Given the description of an element on the screen output the (x, y) to click on. 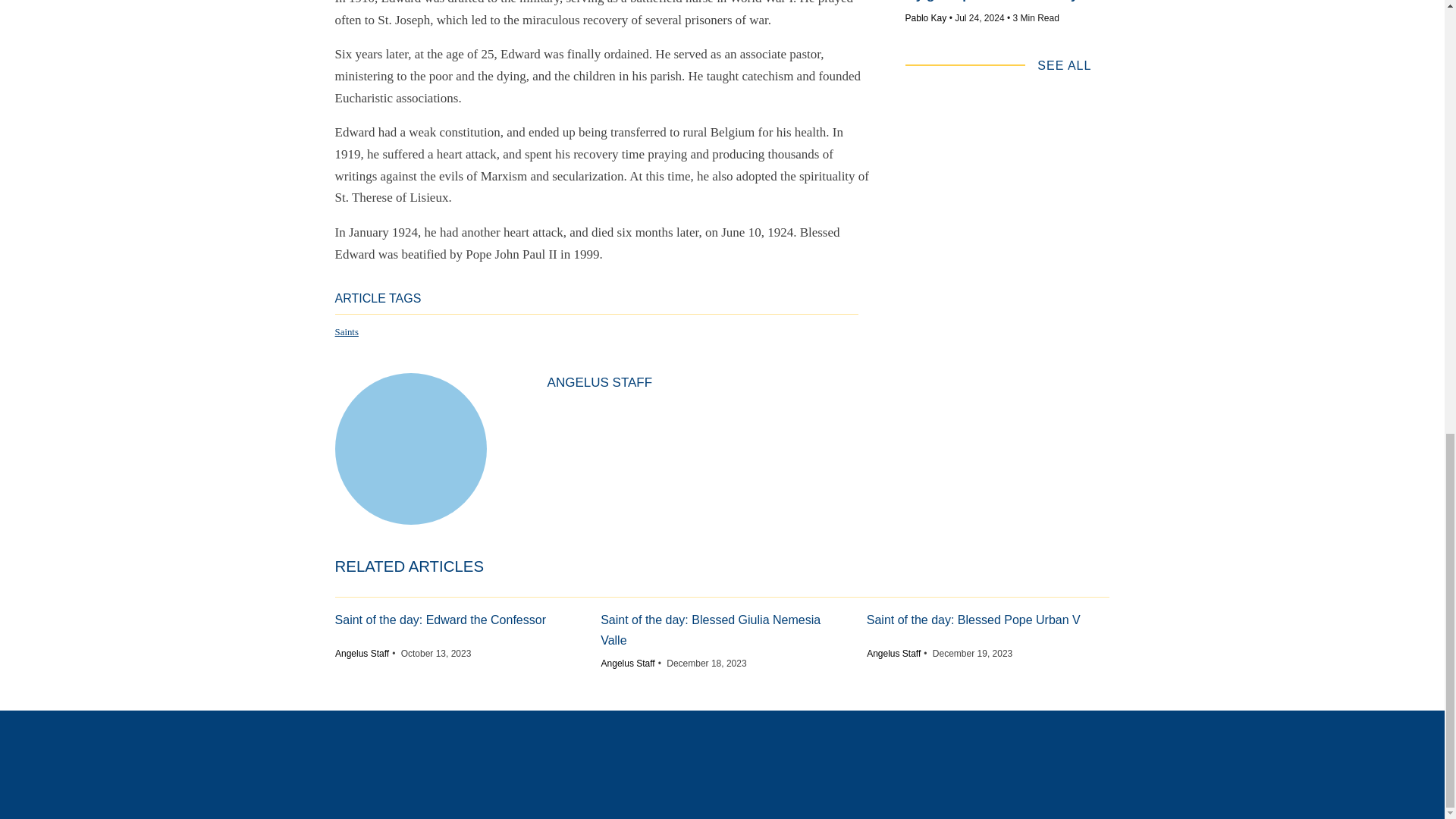
Posts by Pablo Kay (926, 18)
